Given the description of an element on the screen output the (x, y) to click on. 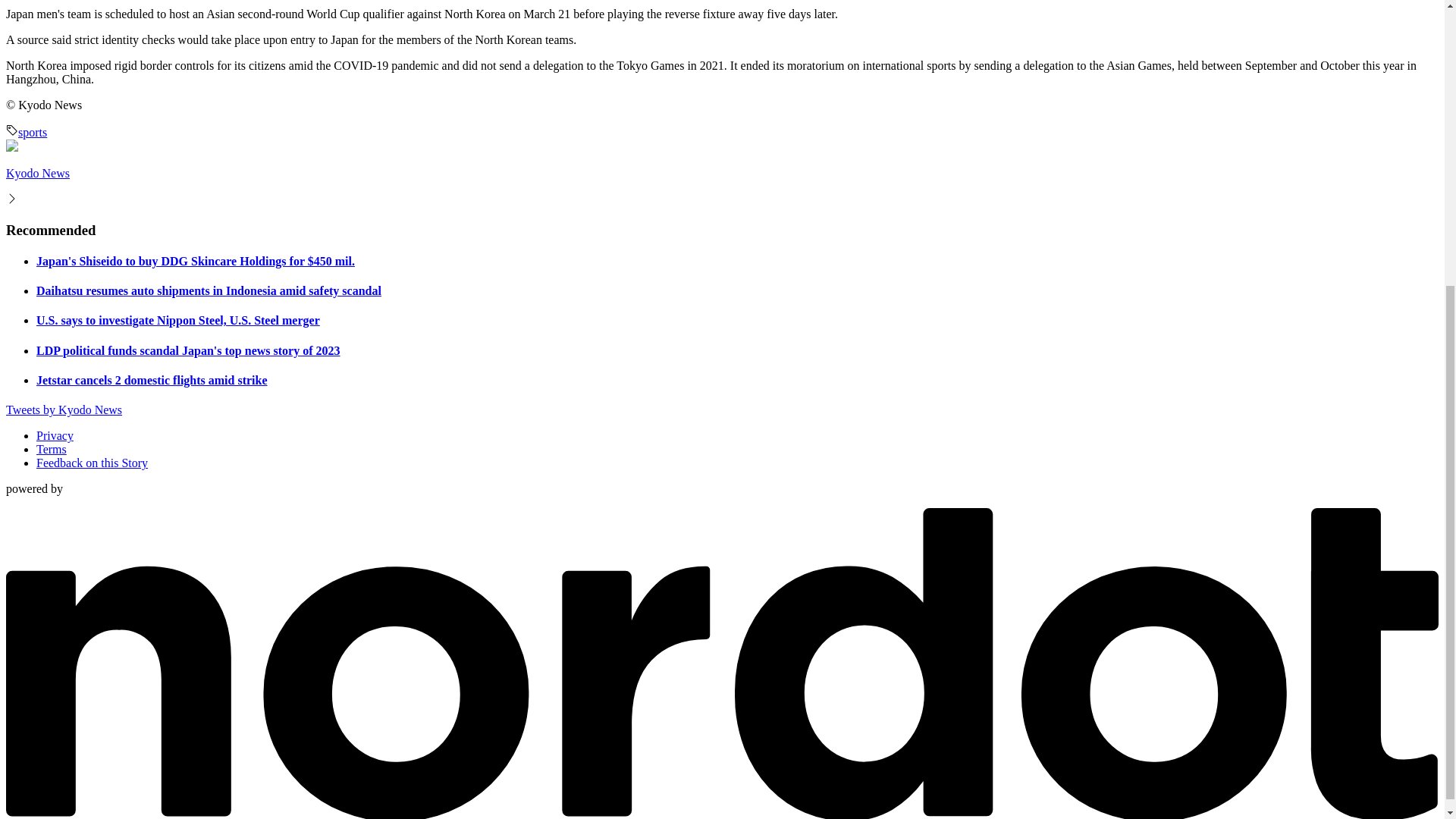
Privacy (55, 435)
Terms (51, 449)
sports (25, 132)
Feedback on this Story (92, 462)
Tweets by Kyodo News (63, 409)
